Given the description of an element on the screen output the (x, y) to click on. 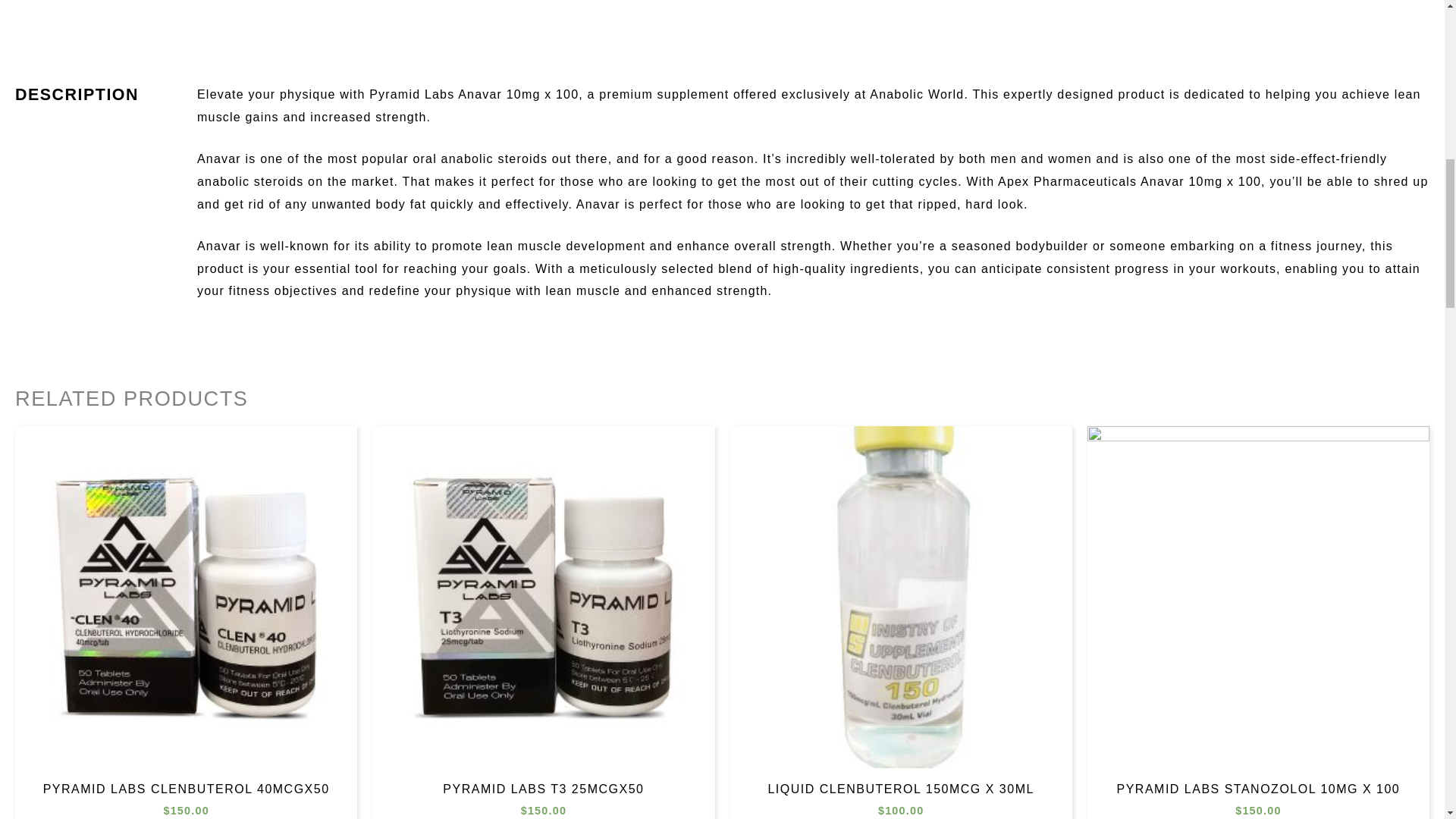
PYRAMID LABS T3 25MCGX50 (543, 792)
PYRAMID LABS STANOZOLOL 10MG X 100 (1258, 792)
PYRAMID LABS CLENBUTEROL 40MCGX50 (185, 792)
LIQUID CLENBUTEROL 150MCG X 30ML (901, 792)
